Given the description of an element on the screen output the (x, y) to click on. 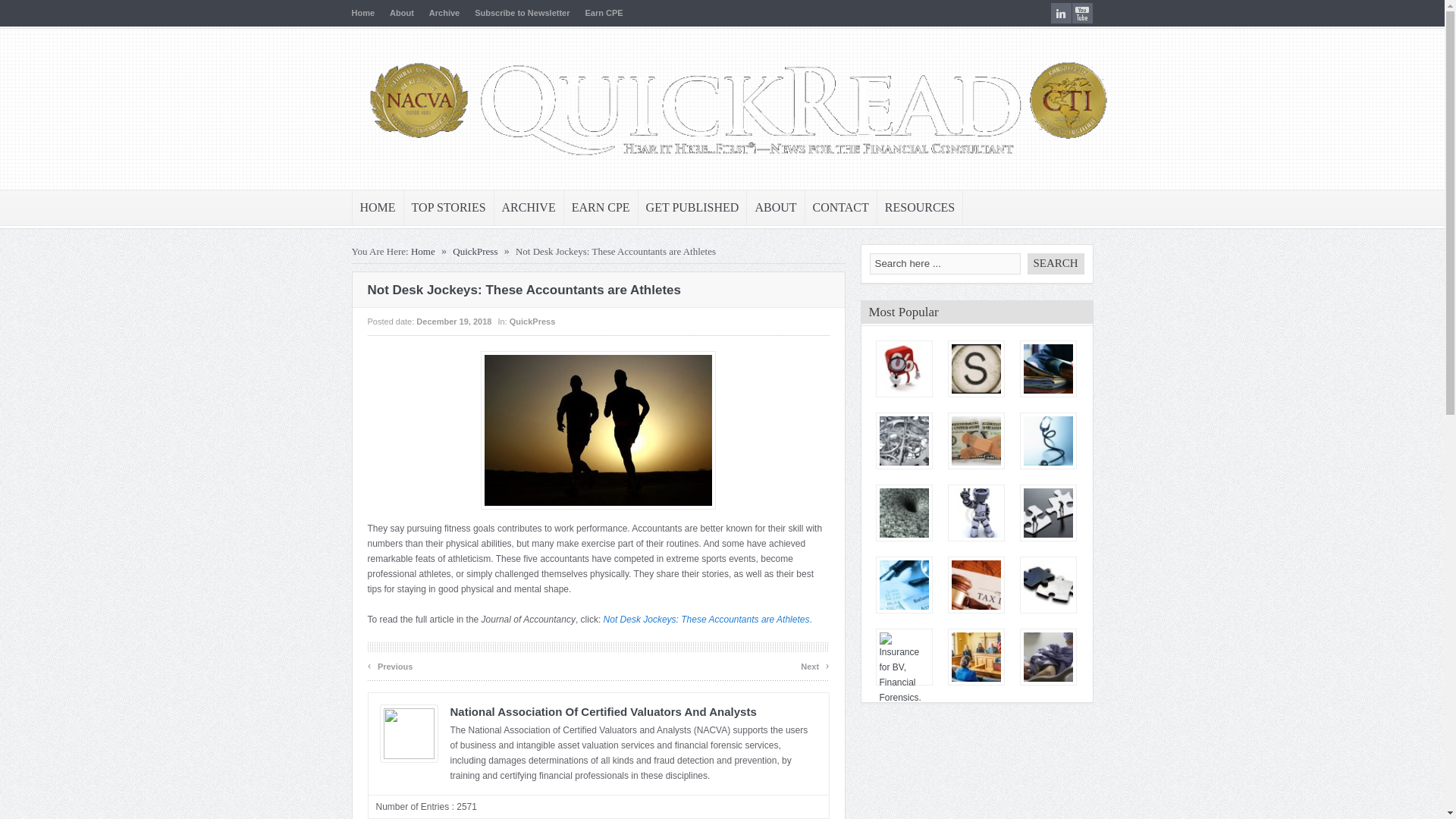
LinkedIn (1061, 13)
Iterating the Weighted Average Cost of Capital (903, 368)
Home (363, 12)
GET PUBLISHED (692, 207)
ARCHIVE (529, 207)
ABOUT (774, 207)
TOP STORIES (448, 207)
Home (422, 251)
About (401, 12)
Search (1054, 263)
Search here ... (944, 263)
HOME (377, 207)
Archive (444, 12)
S-Corporations and Taxes: A Summary of Relevant Case Law (975, 368)
